Given the description of an element on the screen output the (x, y) to click on. 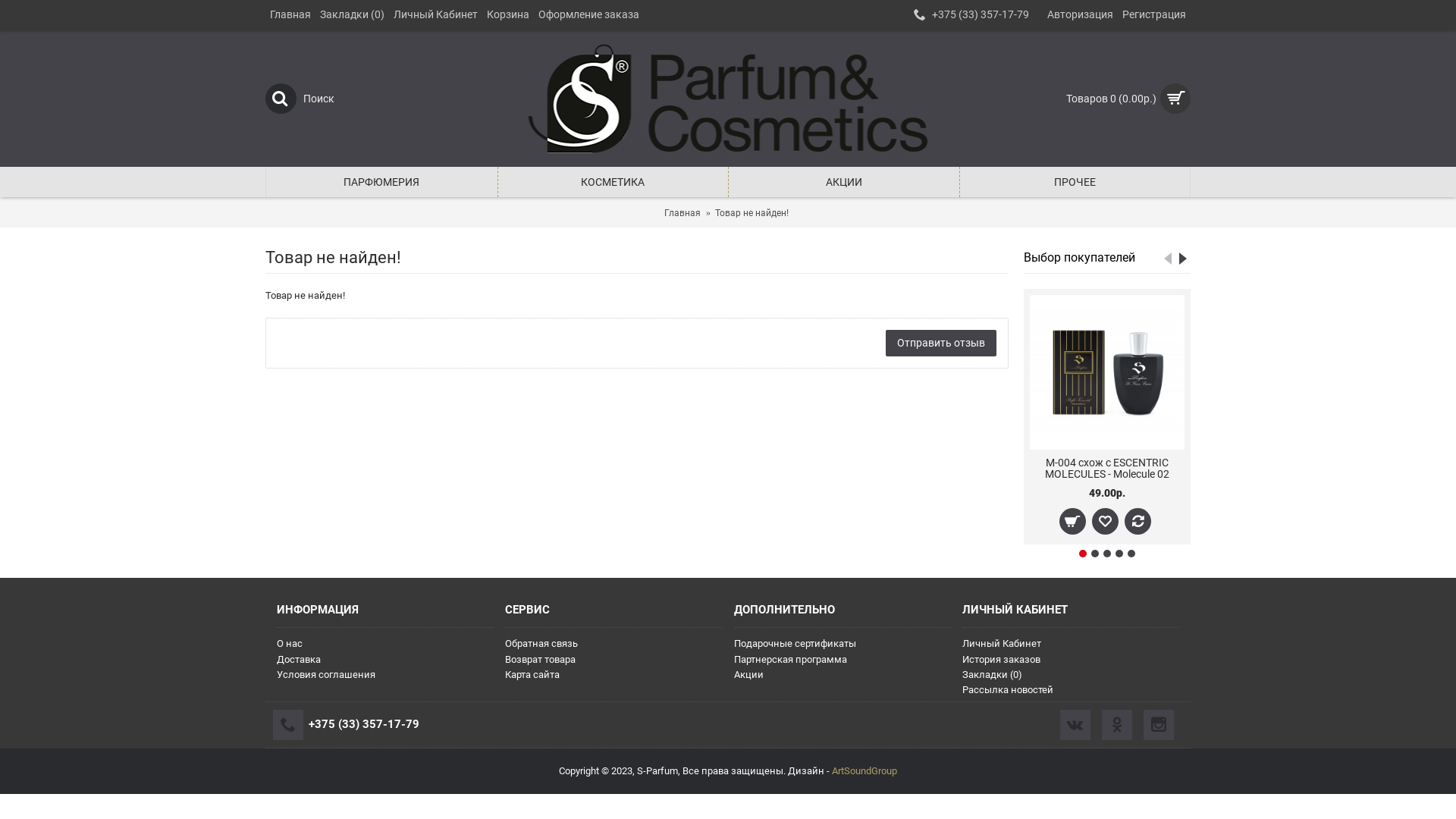
+375 (33) 357-17-79 Element type: text (971, 15)
ArtSoundGroup Element type: text (864, 770)
+375 (33) 357-17-79 Element type: text (363, 723)
